Given the description of an element on the screen output the (x, y) to click on. 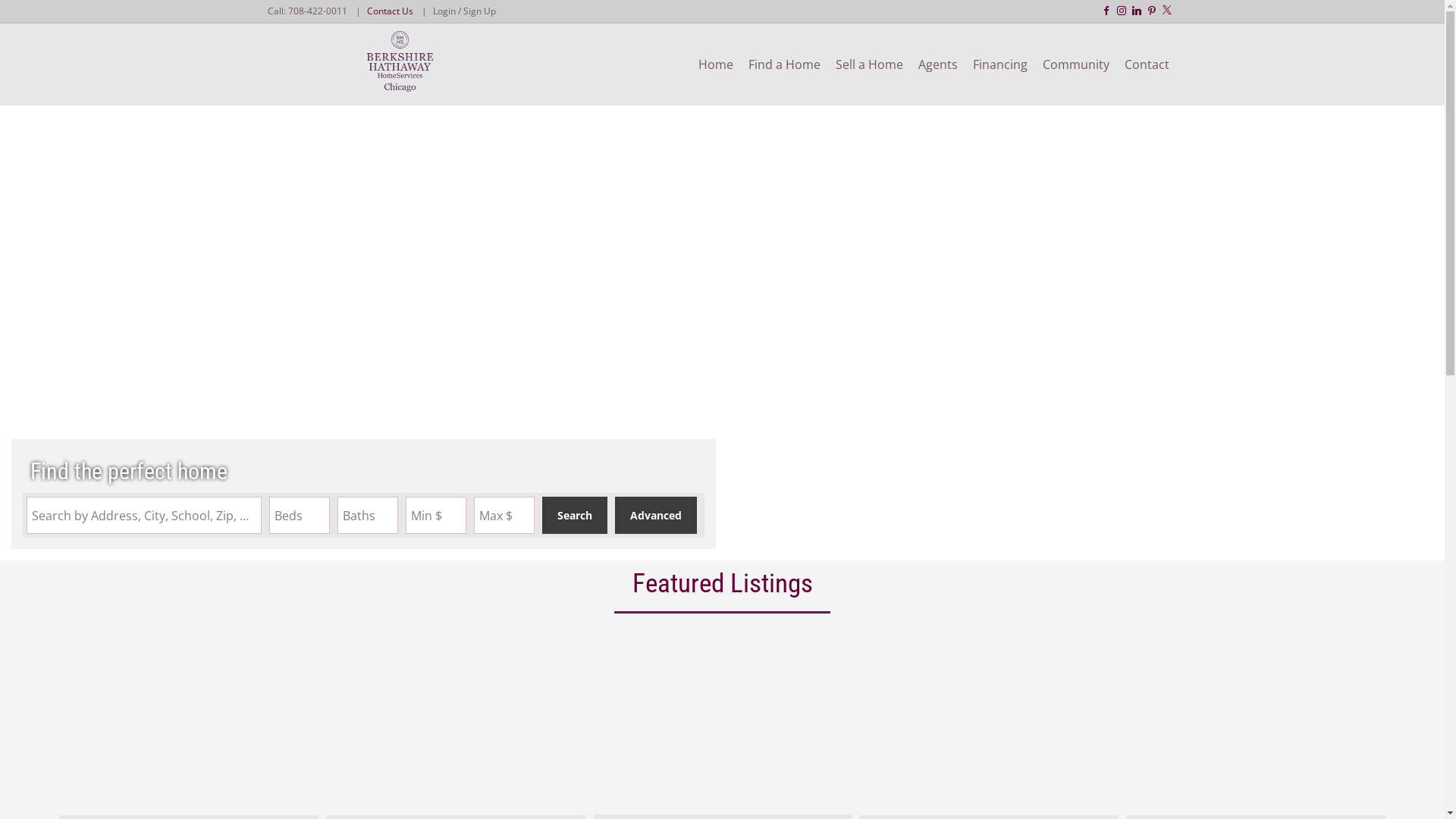
Visit us on LinkedIn (1136, 10)
Visit us on Facebook (1106, 10)
Visit us on Pinterest (1151, 10)
Sell a Home (869, 64)
Visit us on Instagram (1120, 10)
Community (1074, 64)
Home (714, 64)
Financing (998, 64)
Contact Us (389, 10)
708-422-0011 (317, 10)
